Given the description of an element on the screen output the (x, y) to click on. 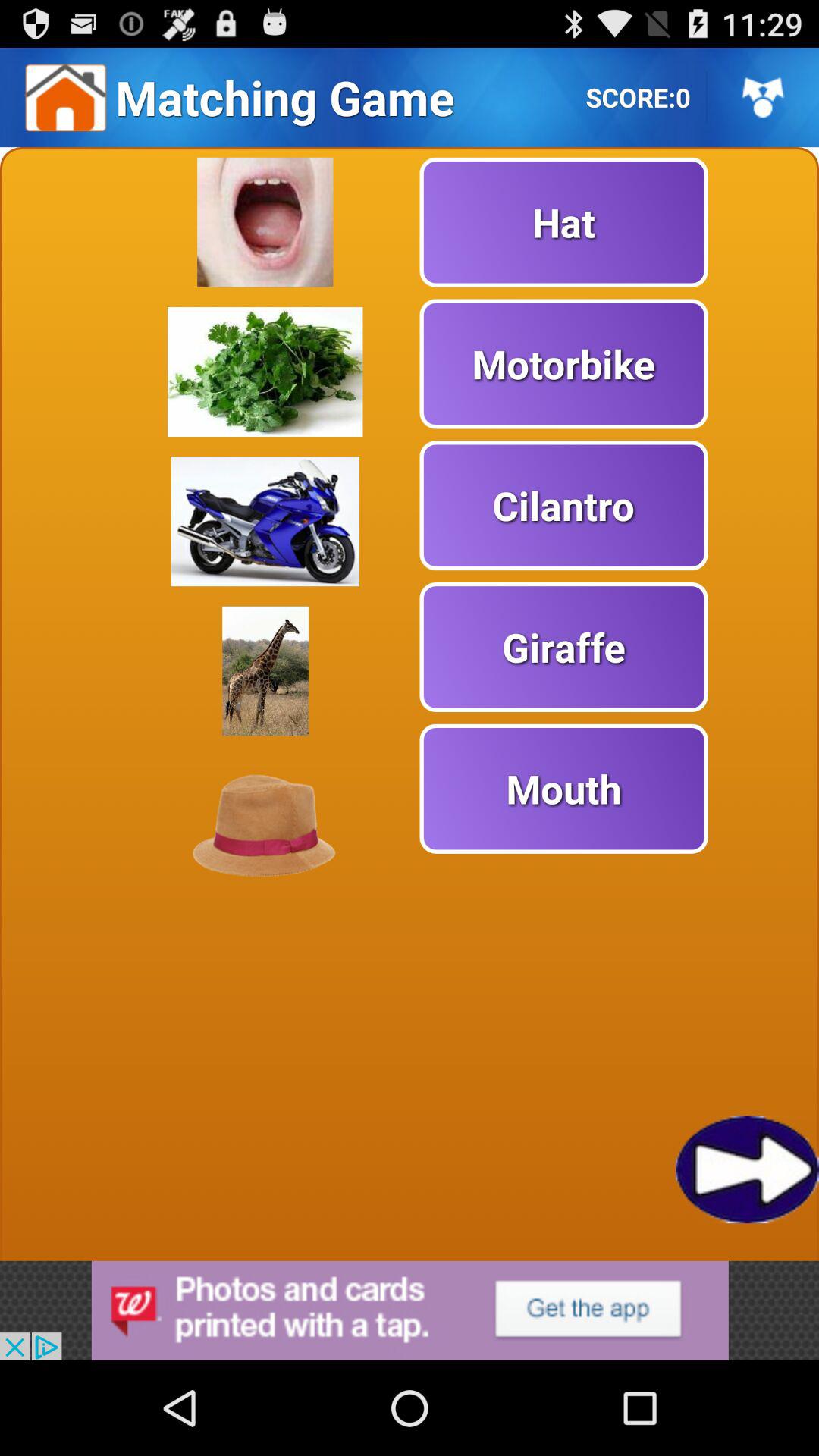
click advertisement (409, 1310)
